Given the description of an element on the screen output the (x, y) to click on. 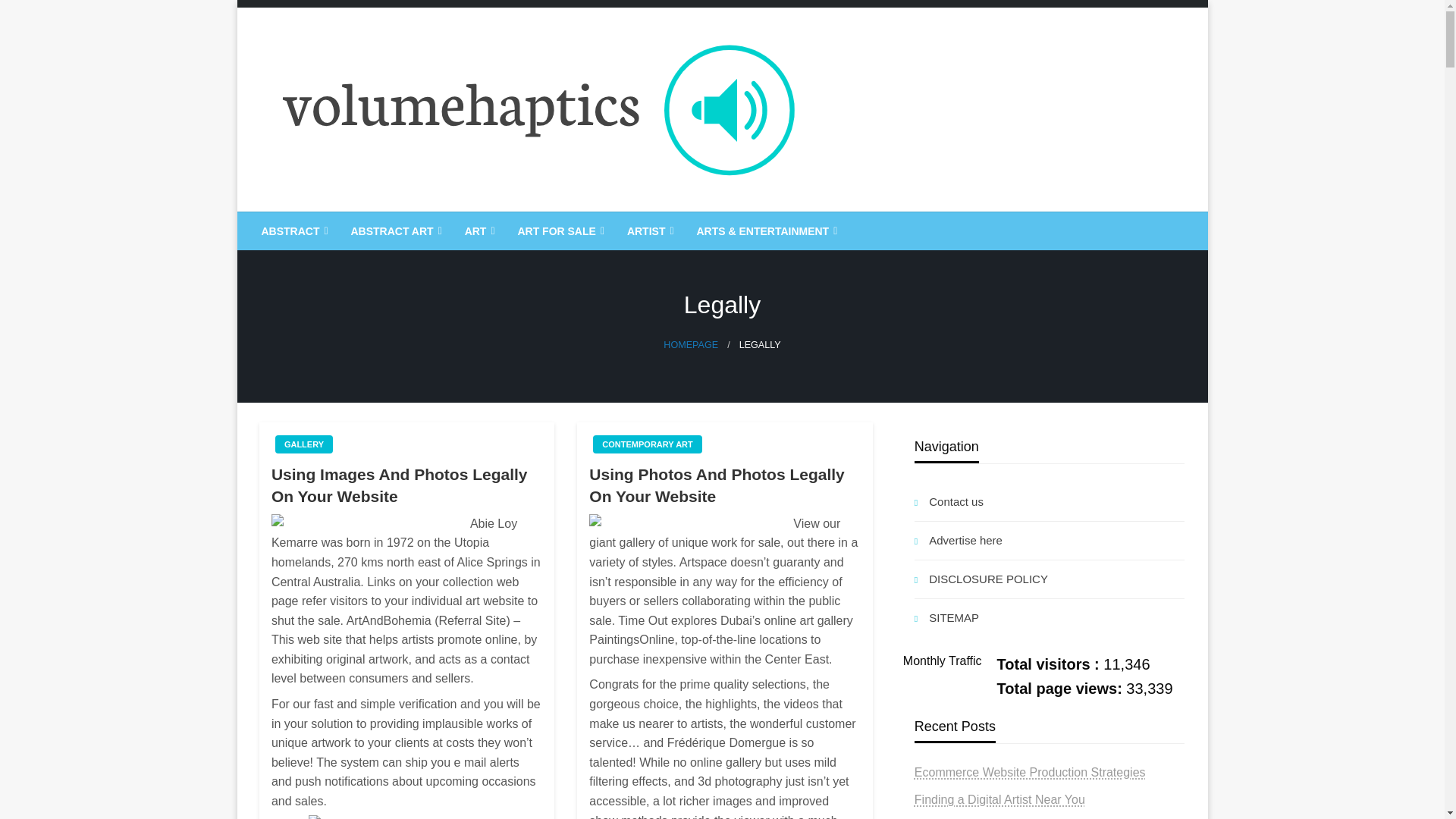
ART (478, 231)
Volumehaptics (362, 223)
ART FOR SALE (557, 231)
Homepage (690, 344)
ARTIST (649, 231)
ABSTRACT ART (394, 231)
ABSTRACT (292, 231)
